Given the description of an element on the screen output the (x, y) to click on. 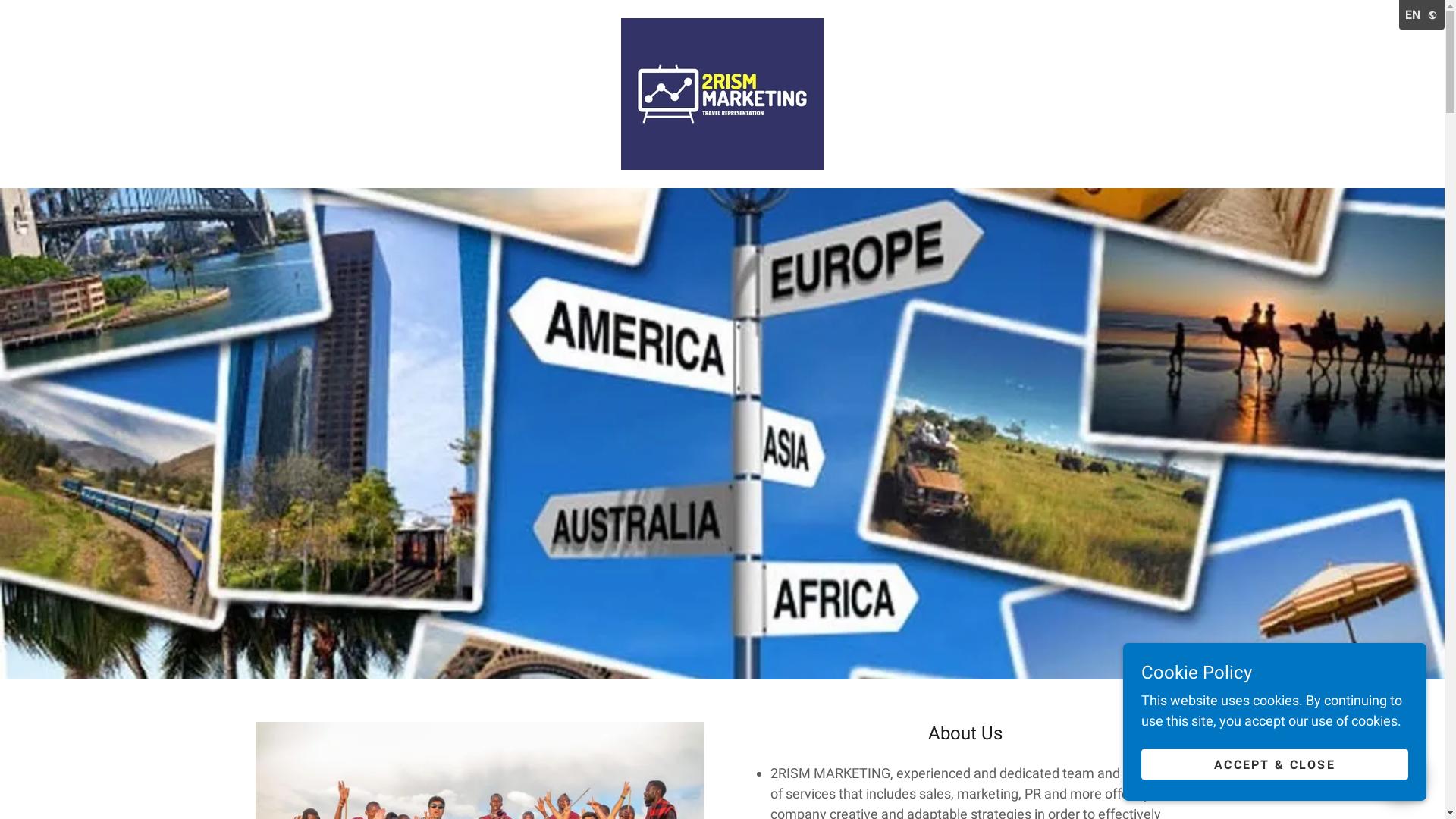
ACCEPT & CLOSE Element type: text (1274, 764)
Travel Representation Element type: hover (722, 92)
